Given the description of an element on the screen output the (x, y) to click on. 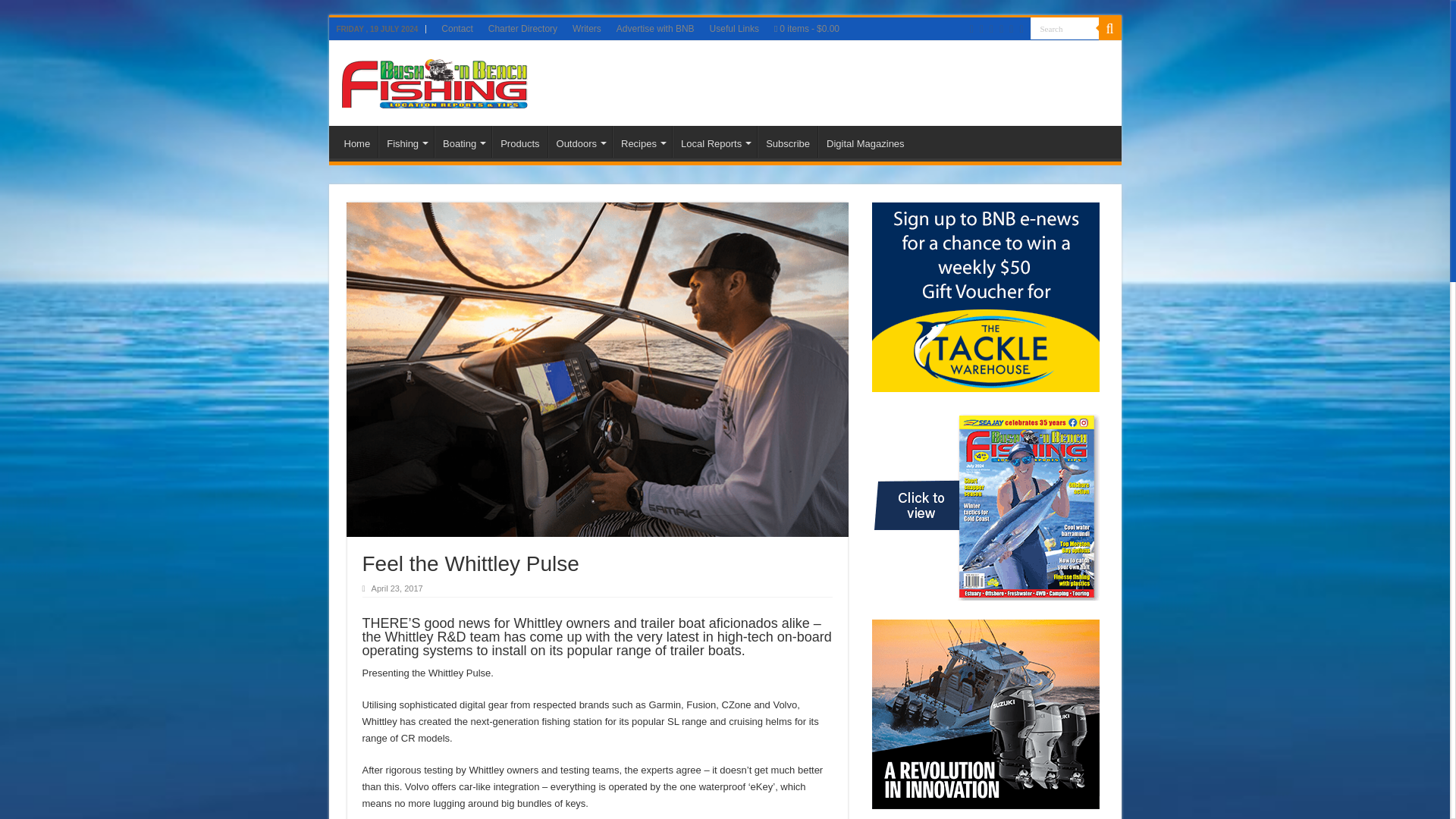
Start shopping (807, 28)
Search (1063, 28)
Search (1063, 28)
Search (1063, 28)
